Given the description of an element on the screen output the (x, y) to click on. 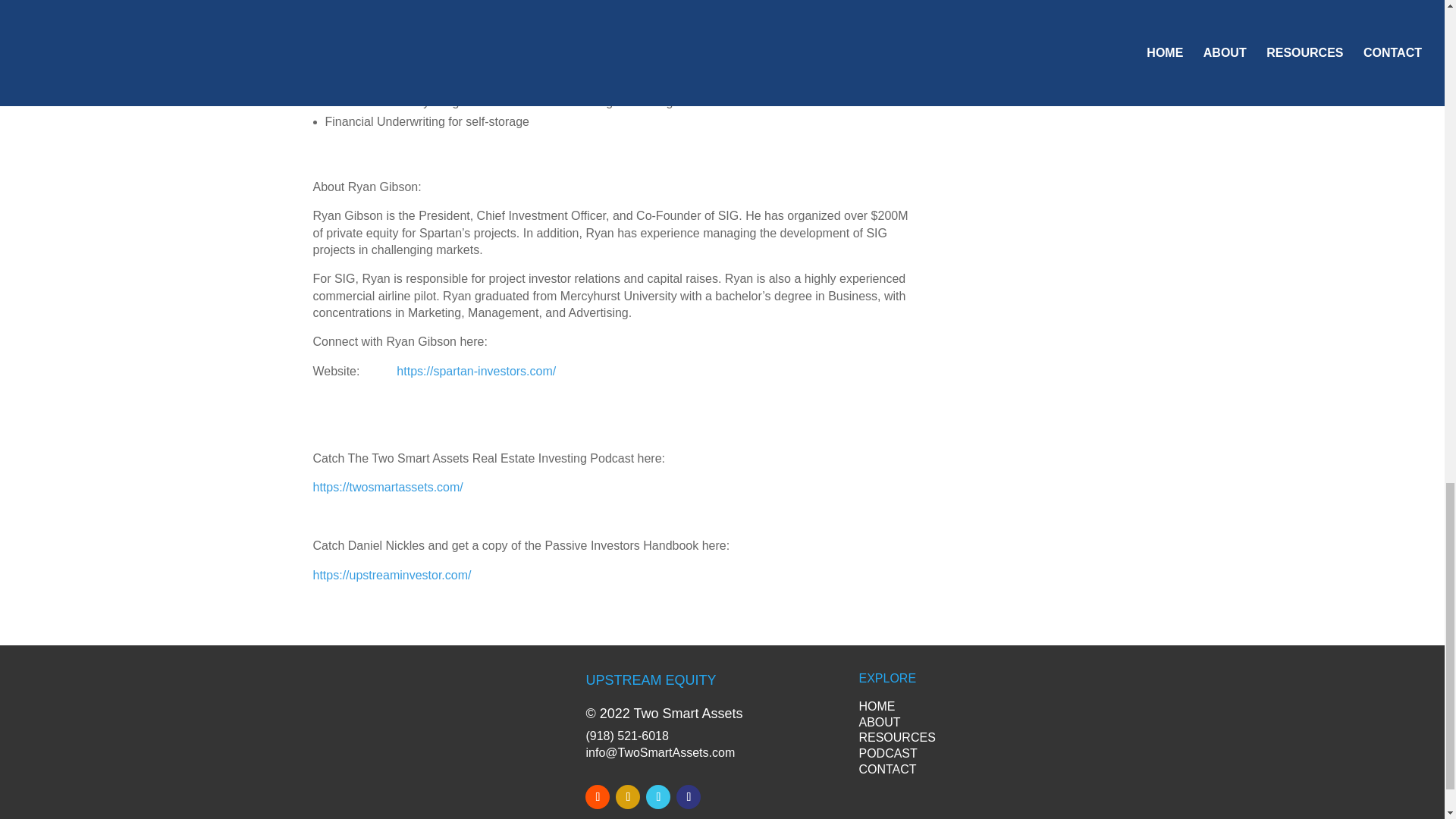
Follow on Twitter (688, 796)
Follow on Facebook (597, 796)
Follow on Instagram (627, 796)
Follow on LinkedIn (657, 796)
